Given the description of an element on the screen output the (x, y) to click on. 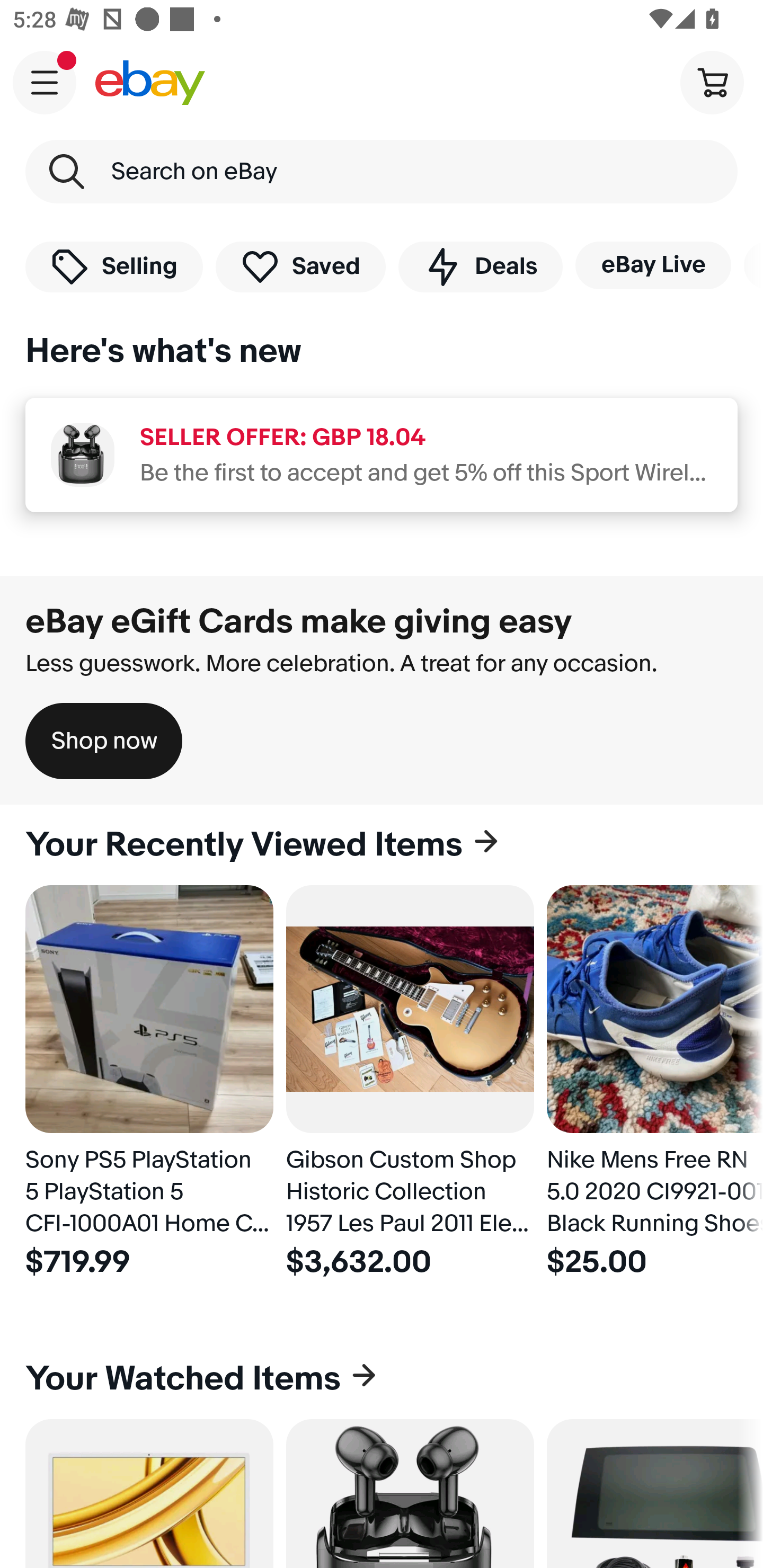
Main navigation, notification is pending, open (44, 82)
Cart button shopping cart (711, 81)
Search on eBay Search Keyword Search on eBay (381, 171)
Selling (113, 266)
Saved (300, 266)
Deals (480, 266)
eBay Live (652, 264)
eBay eGift Cards make giving easy (298, 621)
Shop now (103, 740)
Your Recently Viewed Items   (381, 844)
Your Watched Items   (381, 1379)
